Given the description of an element on the screen output the (x, y) to click on. 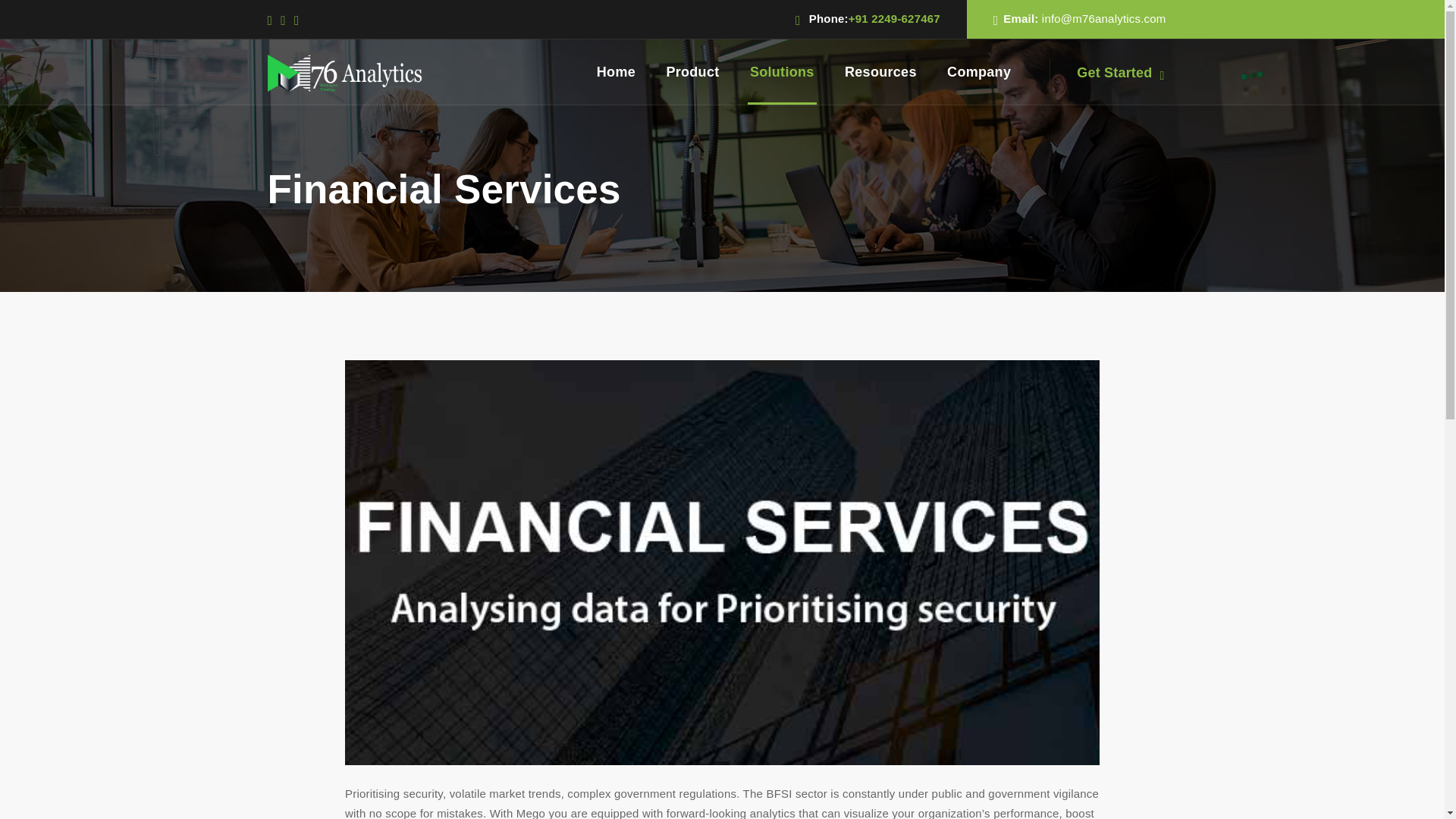
Company (979, 71)
Product (692, 71)
Resources (880, 71)
Home (616, 71)
Get Started (1121, 73)
M76 Analytics (344, 72)
Solutions (782, 71)
